Given the description of an element on the screen output the (x, y) to click on. 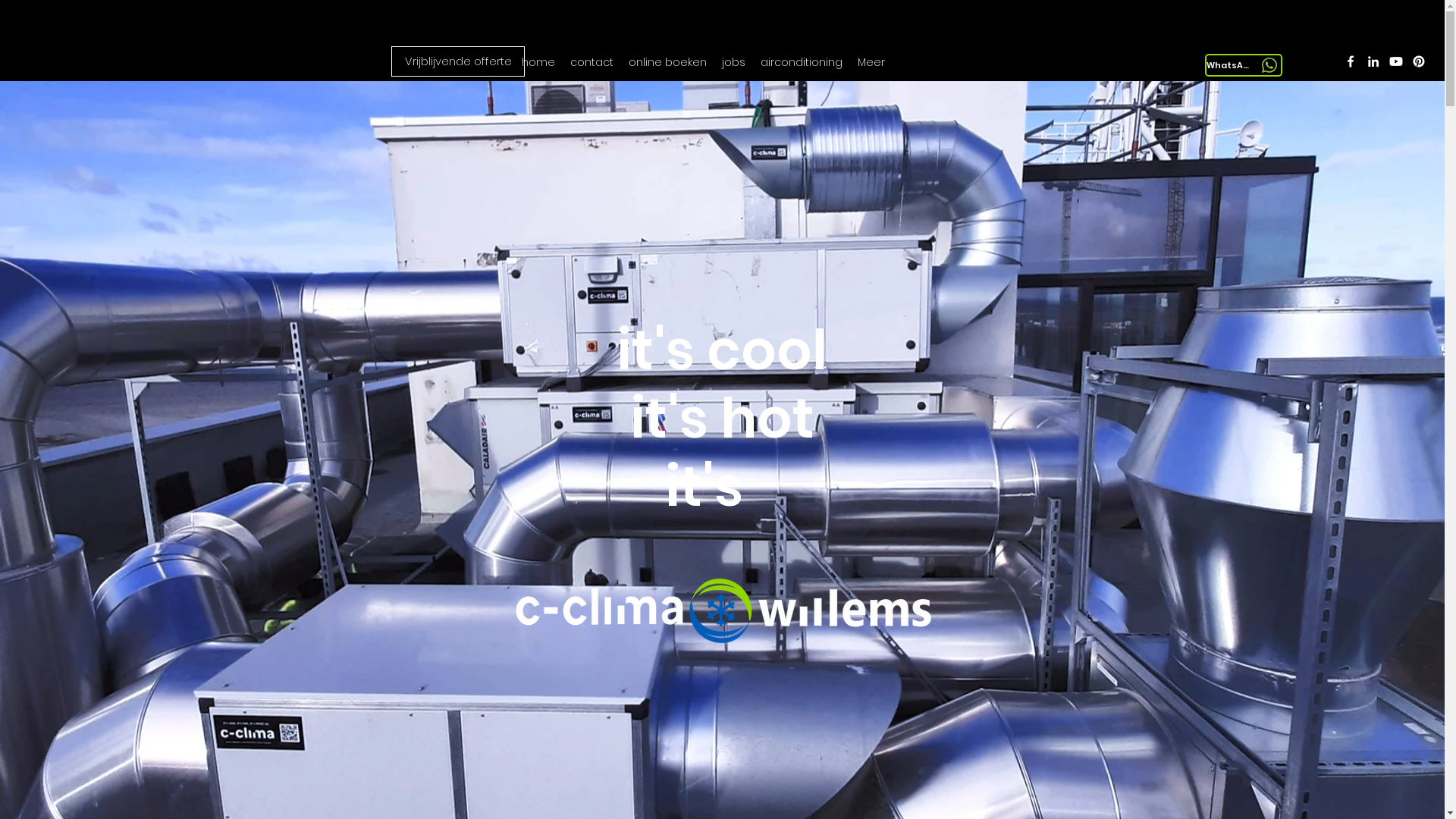
home Element type: text (538, 61)
airconditioning Element type: text (801, 61)
Schermafbeelding 2022-12-28 094736_edite Element type: hover (240, 65)
Vrijblijvende offerte Element type: text (457, 61)
jobs Element type: text (733, 61)
online boeken Element type: text (667, 61)
contact Element type: text (591, 61)
Schermafbeelding 2022-12-28 094736_edite Element type: hover (717, 610)
WhatsApp Element type: text (1243, 64)
